Given the description of an element on the screen output the (x, y) to click on. 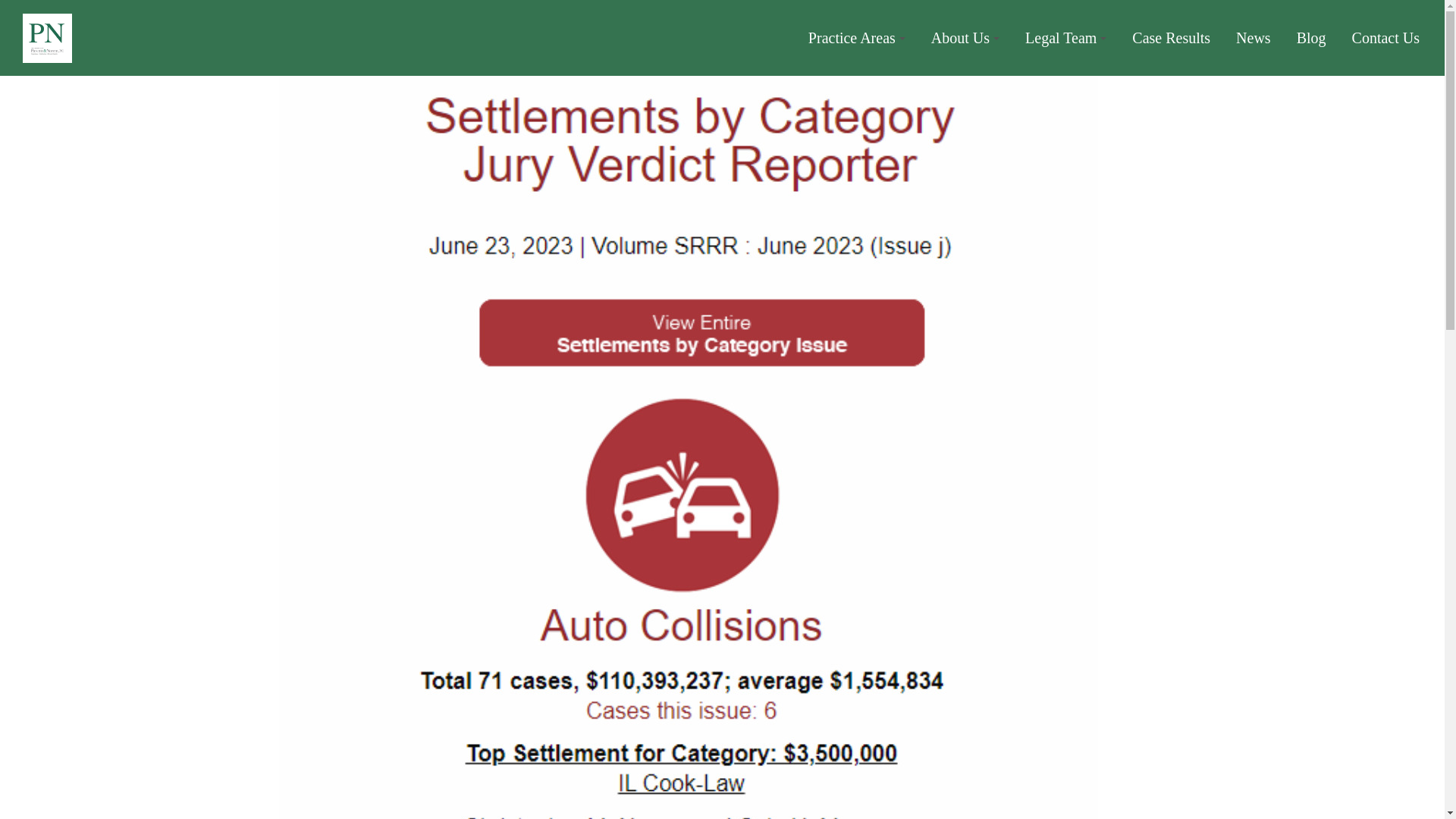
Case Results (1171, 38)
Legal Team (1065, 38)
About Us (965, 38)
Contact Us (1385, 38)
Practice Areas (856, 38)
